Given the description of an element on the screen output the (x, y) to click on. 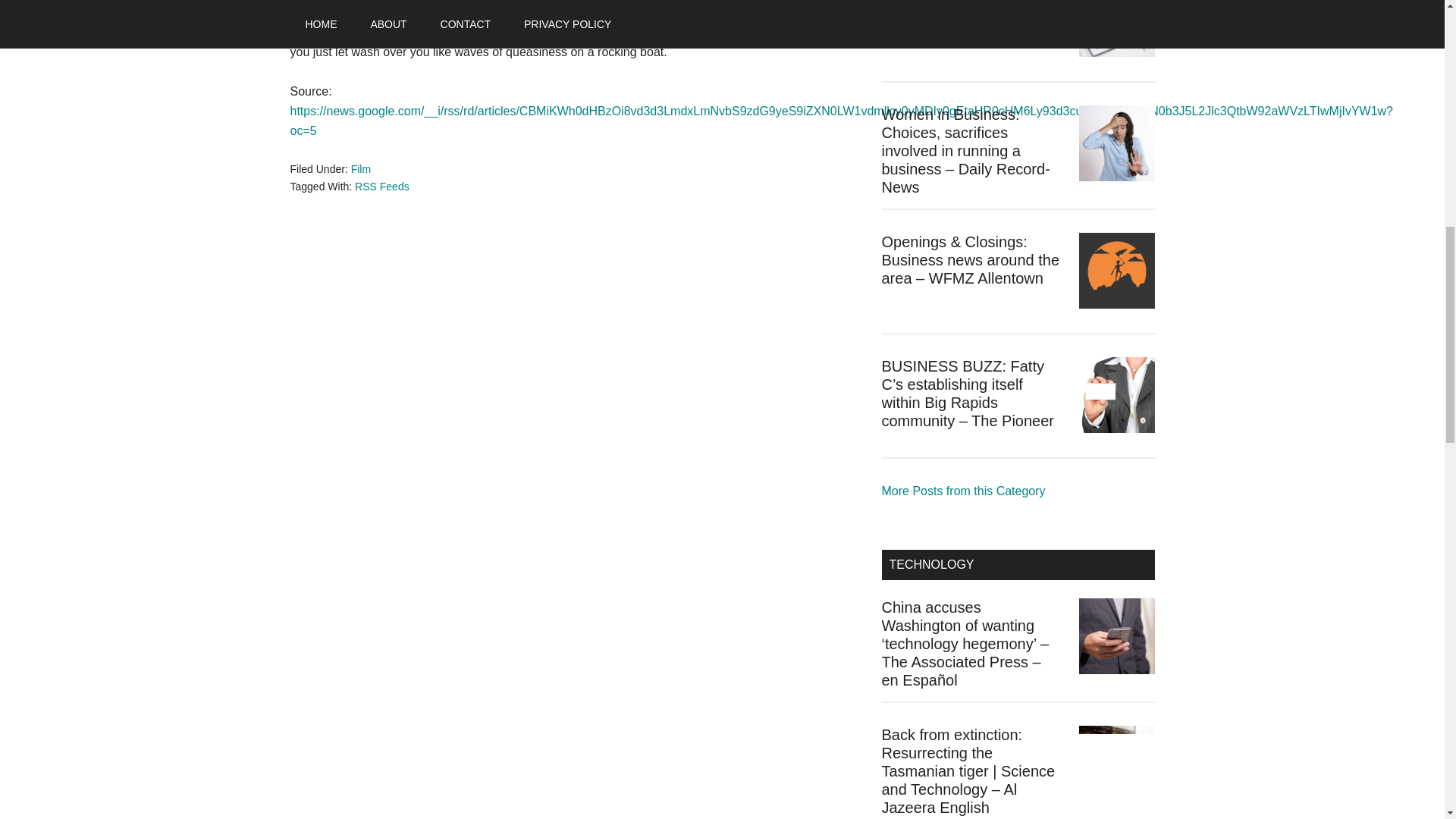
Business (962, 490)
RSS Feeds (382, 186)
More Posts from this Category (962, 490)
Film (360, 168)
